Given the description of an element on the screen output the (x, y) to click on. 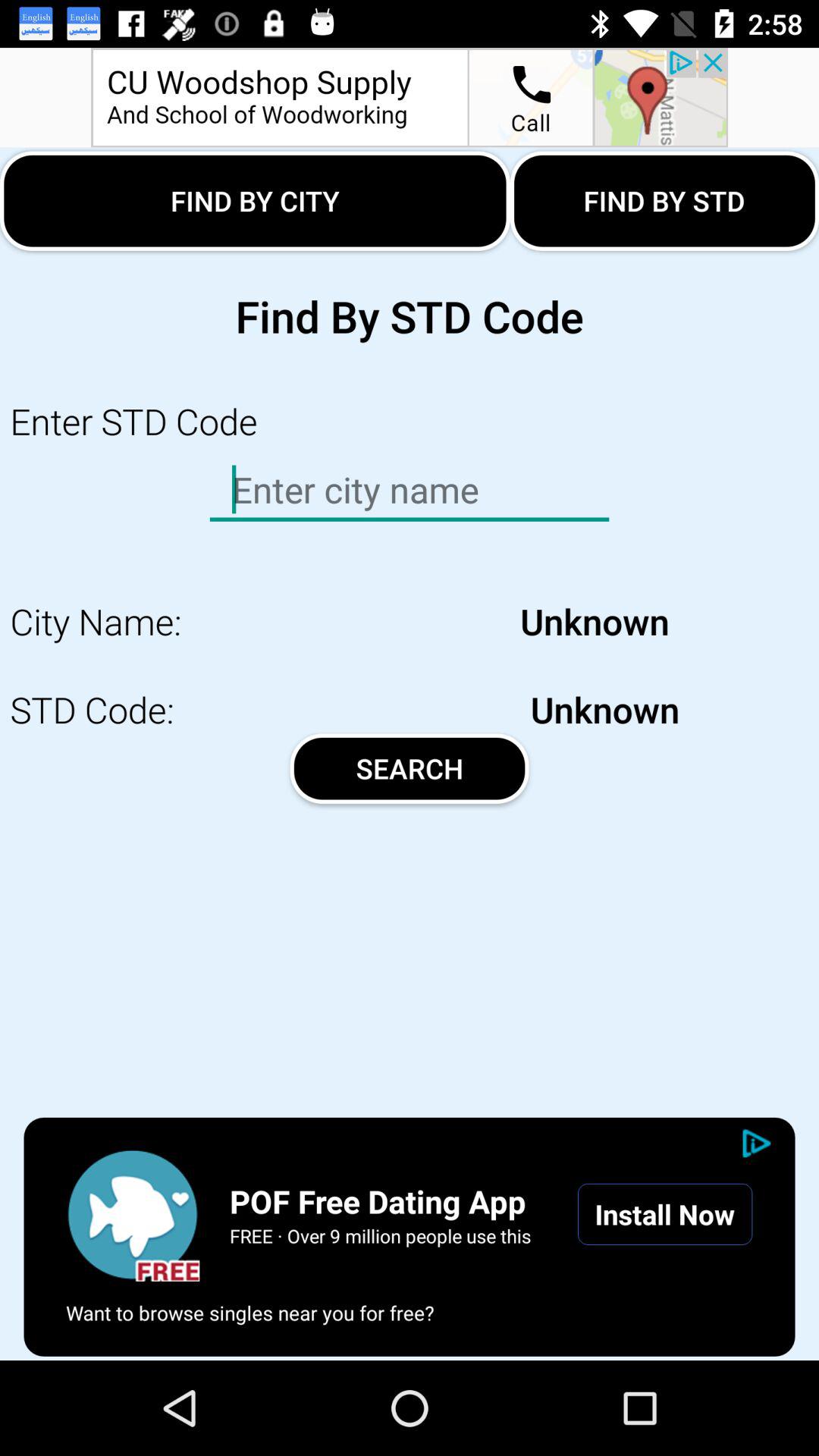
open browser (132, 1214)
